Given the description of an element on the screen output the (x, y) to click on. 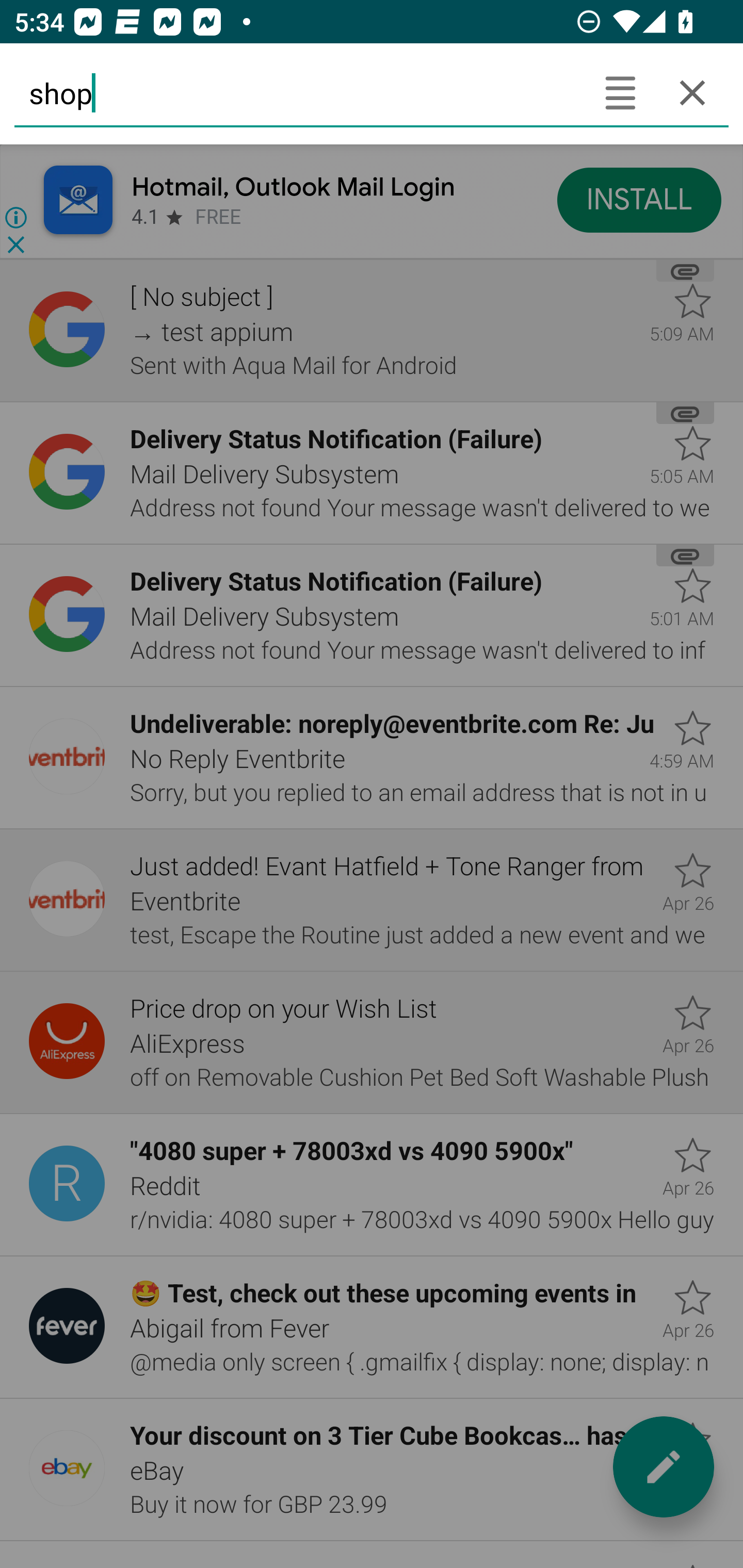
shop (298, 92)
Search headers only (619, 92)
Cancel (692, 92)
